Given the description of an element on the screen output the (x, y) to click on. 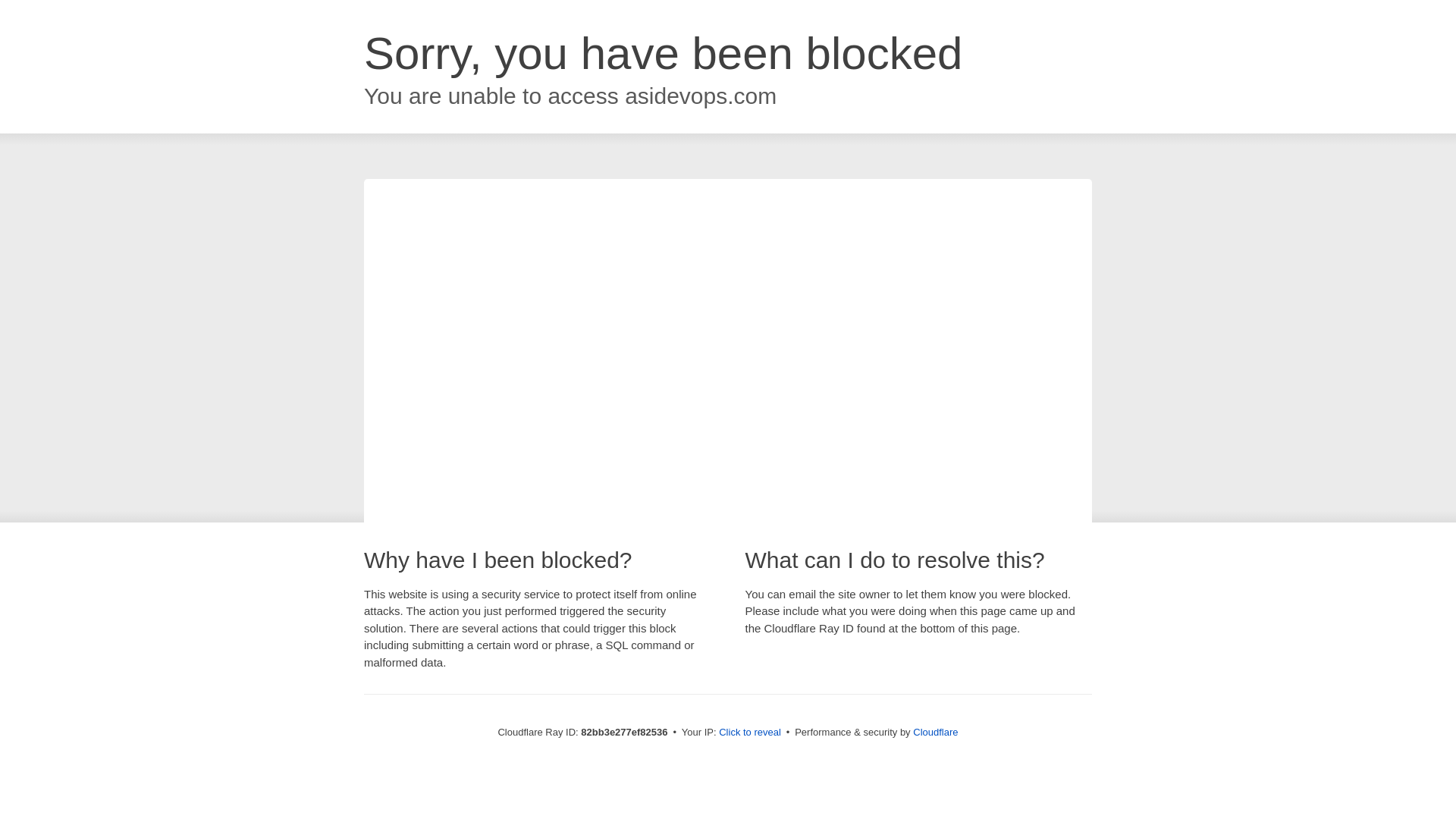
Cloudflare Element type: text (935, 731)
Click to reveal Element type: text (749, 732)
